Given the description of an element on the screen output the (x, y) to click on. 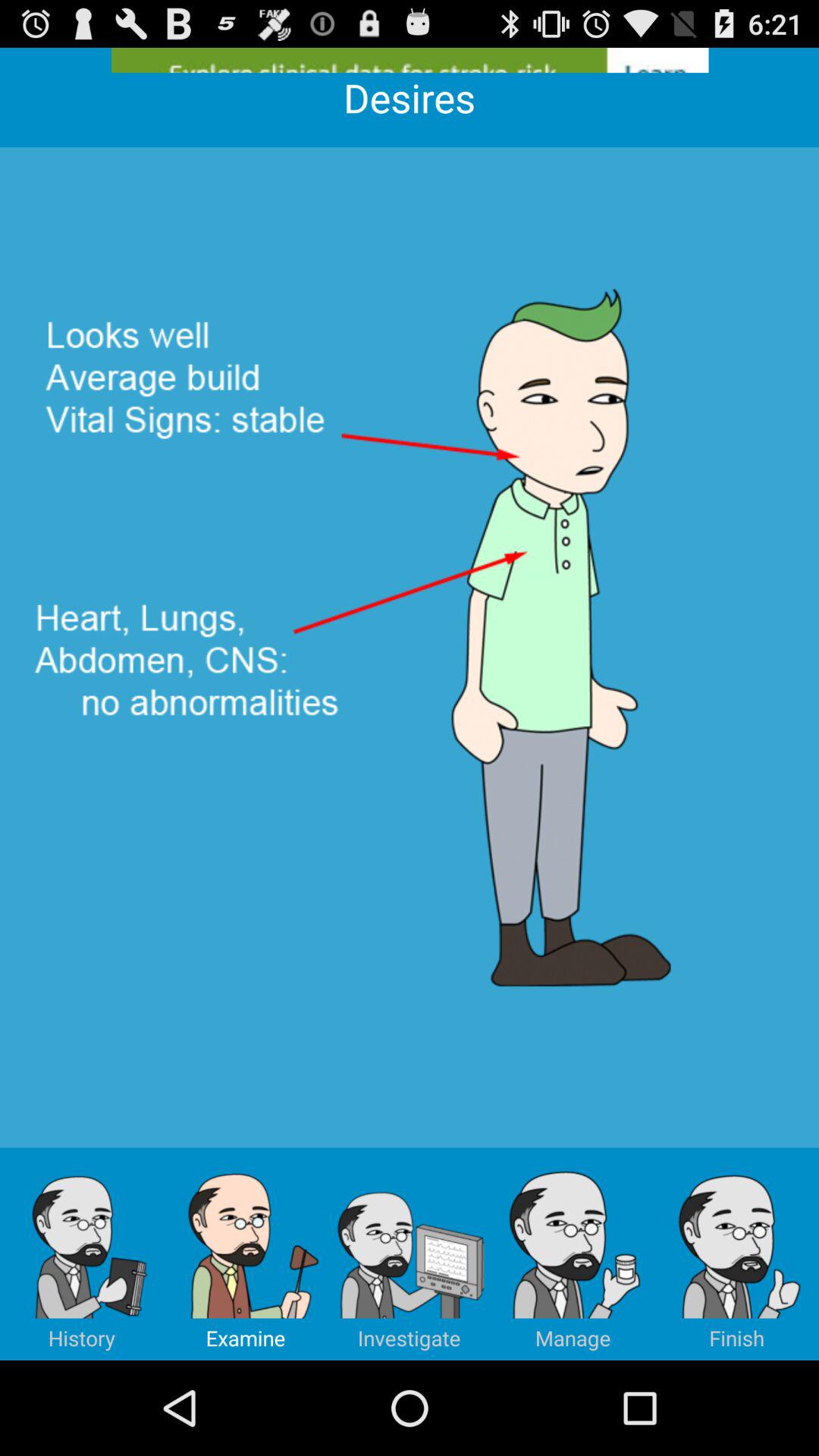
open the icon at the bottom (409, 1253)
